Given the description of an element on the screen output the (x, y) to click on. 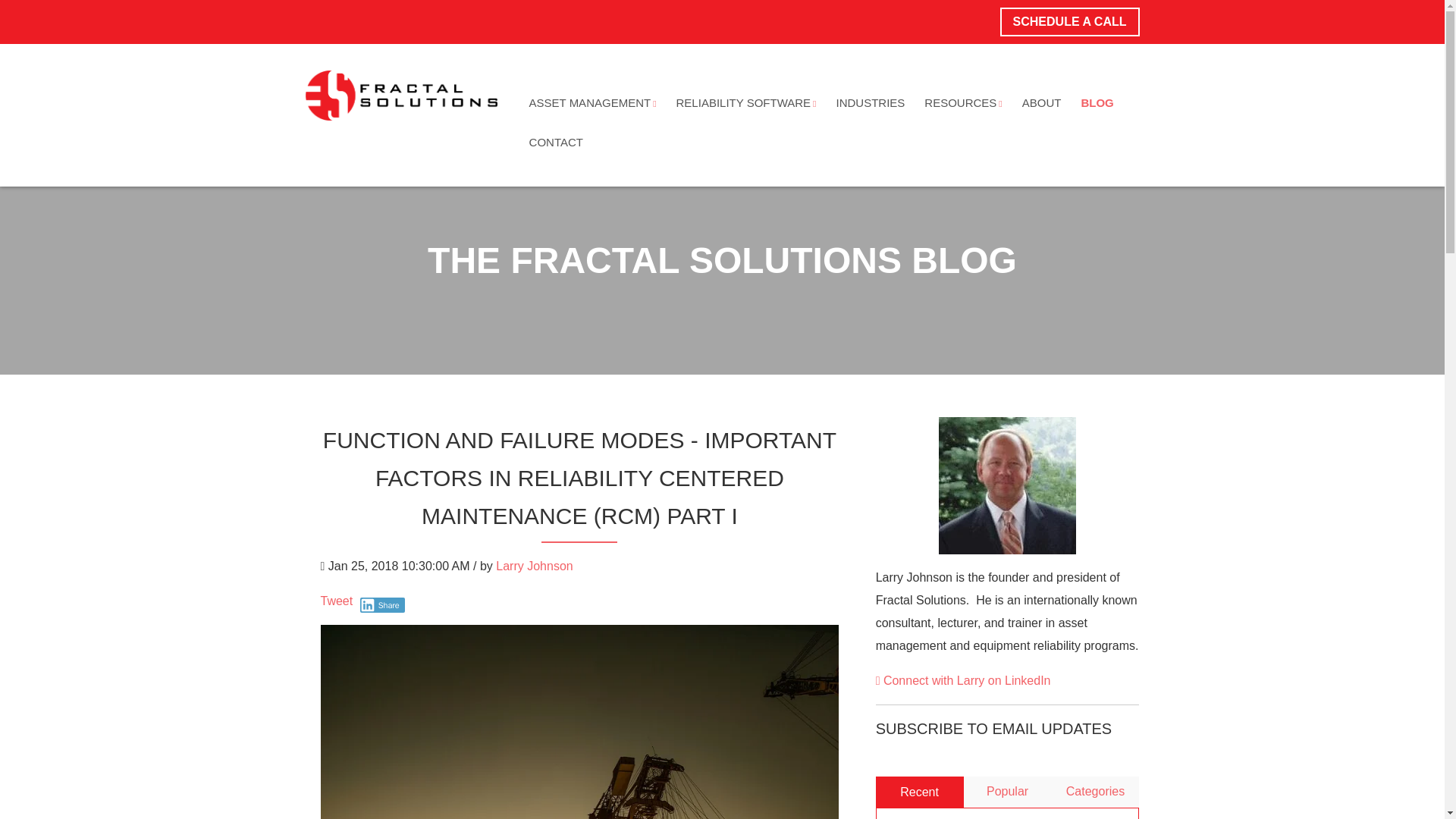
Share (381, 604)
 Connect with Larry on LinkedIn (963, 680)
Categories (1094, 791)
Popular (1007, 791)
Recent (919, 792)
BLOG (1096, 103)
RELIABILITY SOFTWARE (745, 103)
SCHEDULE A CALL (1070, 21)
RESOURCES (962, 103)
larry.jpg (1007, 485)
